Given the description of an element on the screen output the (x, y) to click on. 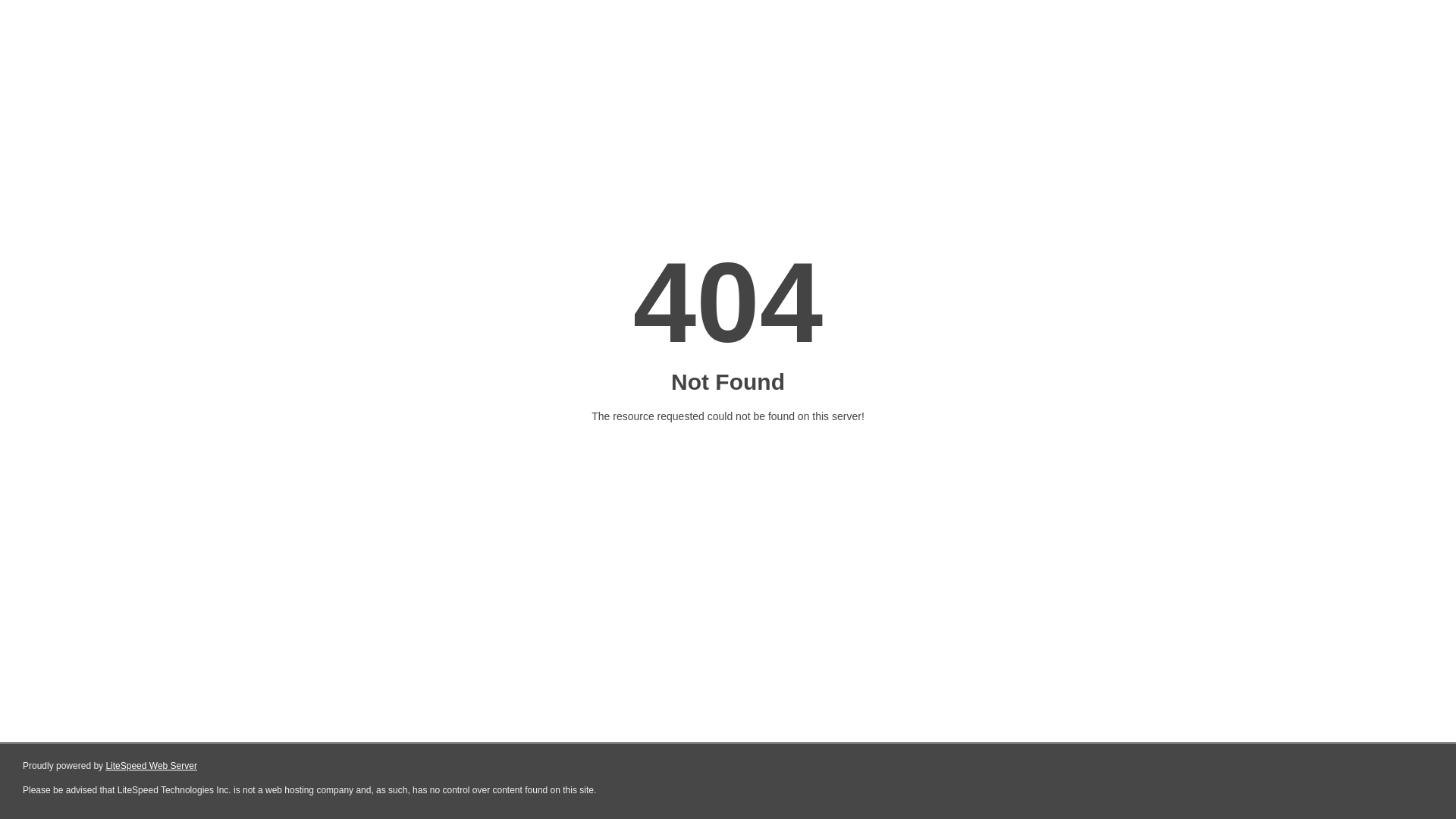
LiteSpeed Web Server Element type: text (151, 765)
